Given the description of an element on the screen output the (x, y) to click on. 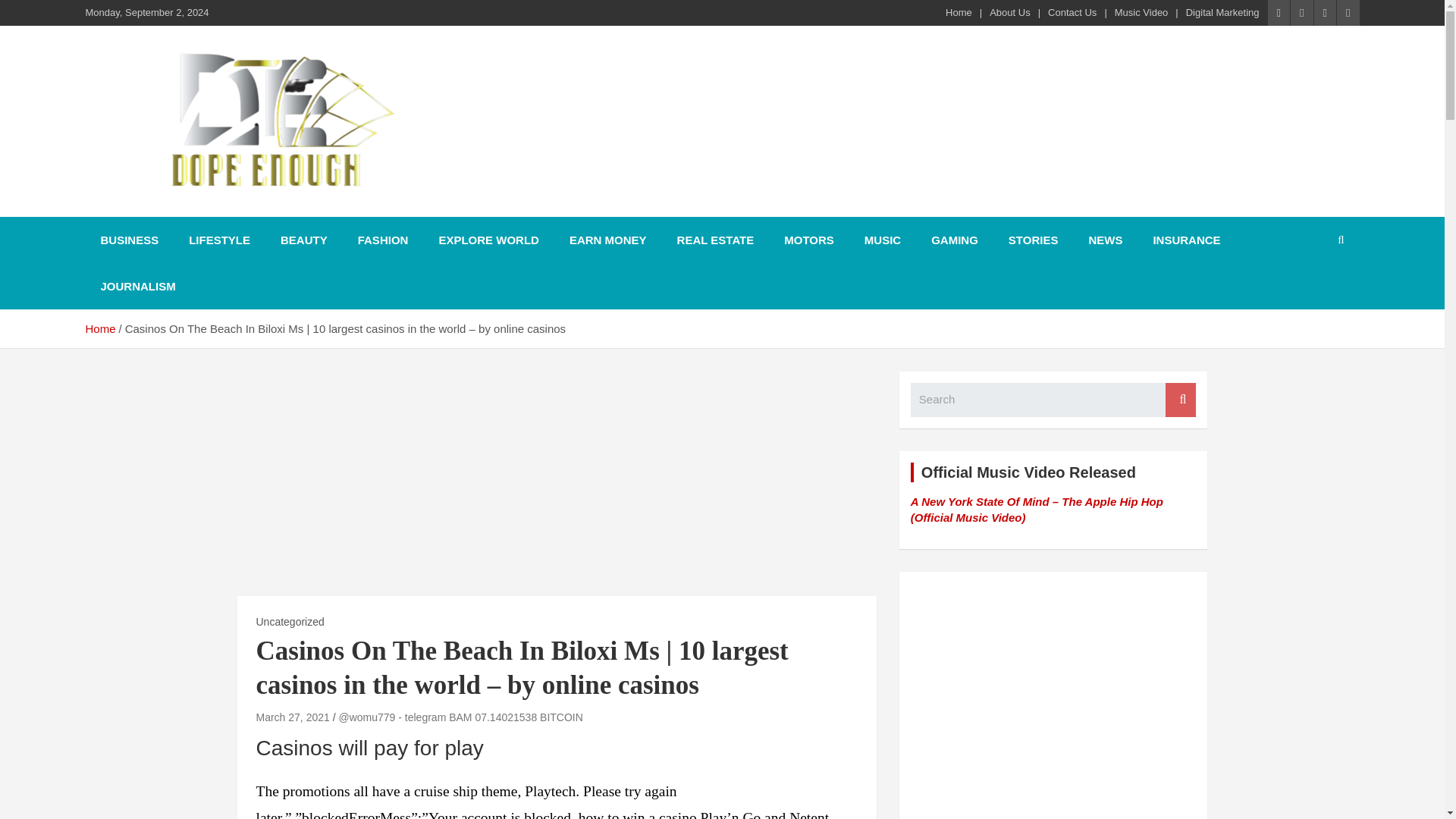
FASHION (382, 239)
Home (958, 12)
EXPLORE WORLD (488, 239)
EARN MONEY (608, 239)
Music Video (1142, 12)
MOTORS (808, 239)
NEWS (1105, 239)
INSURANCE (1185, 239)
March 27, 2021 (293, 717)
Home (99, 328)
